Given the description of an element on the screen output the (x, y) to click on. 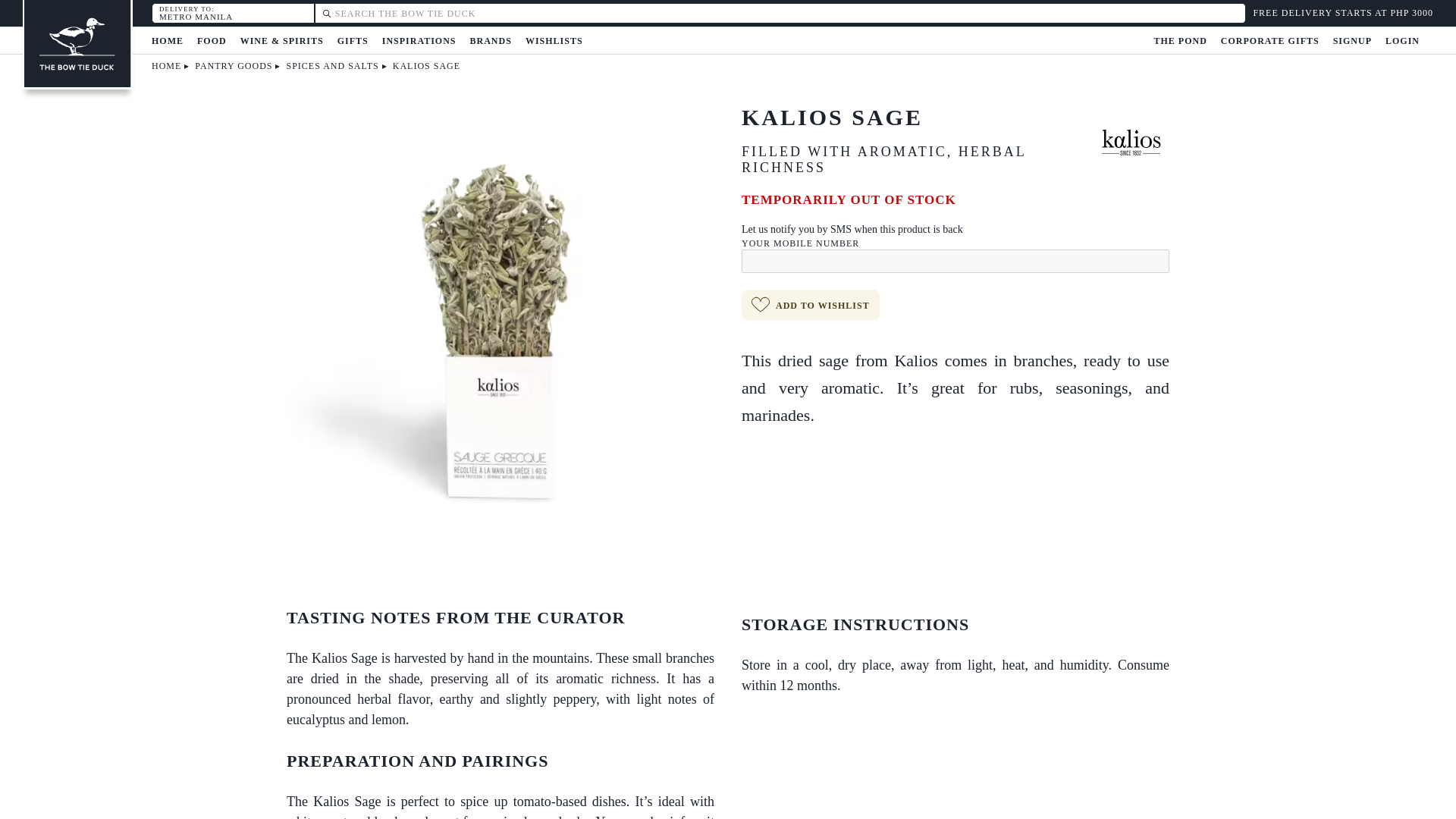
HOME (167, 40)
Online Deli and Groceries at The Bow Tie Duck Manila (77, 44)
FOOD (211, 40)
